Given the description of an element on the screen output the (x, y) to click on. 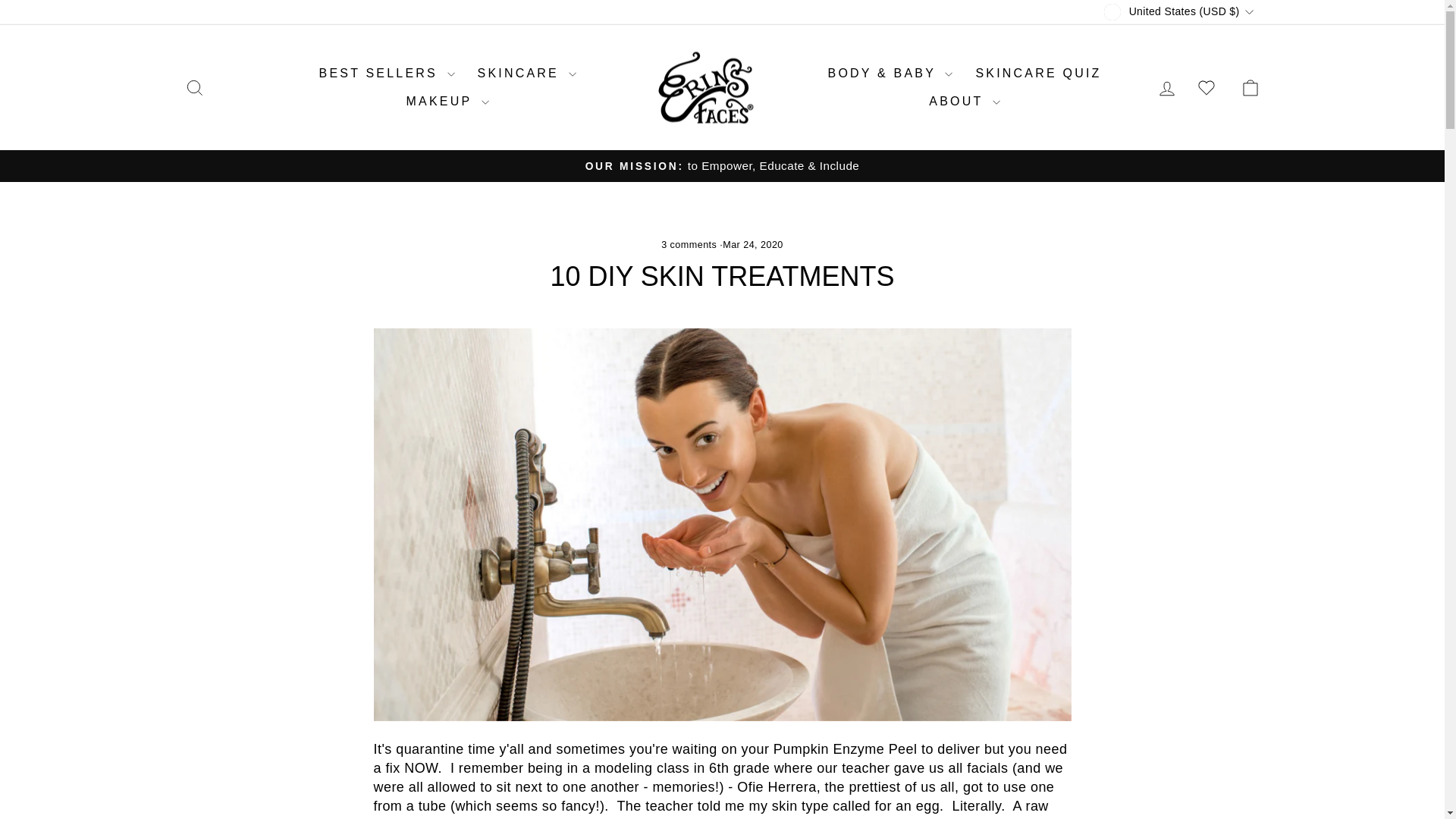
ICON-SEARCH (194, 87)
ACCOUNT (1166, 88)
ICON-BAG-MINIMAL (1249, 87)
